Given the description of an element on the screen output the (x, y) to click on. 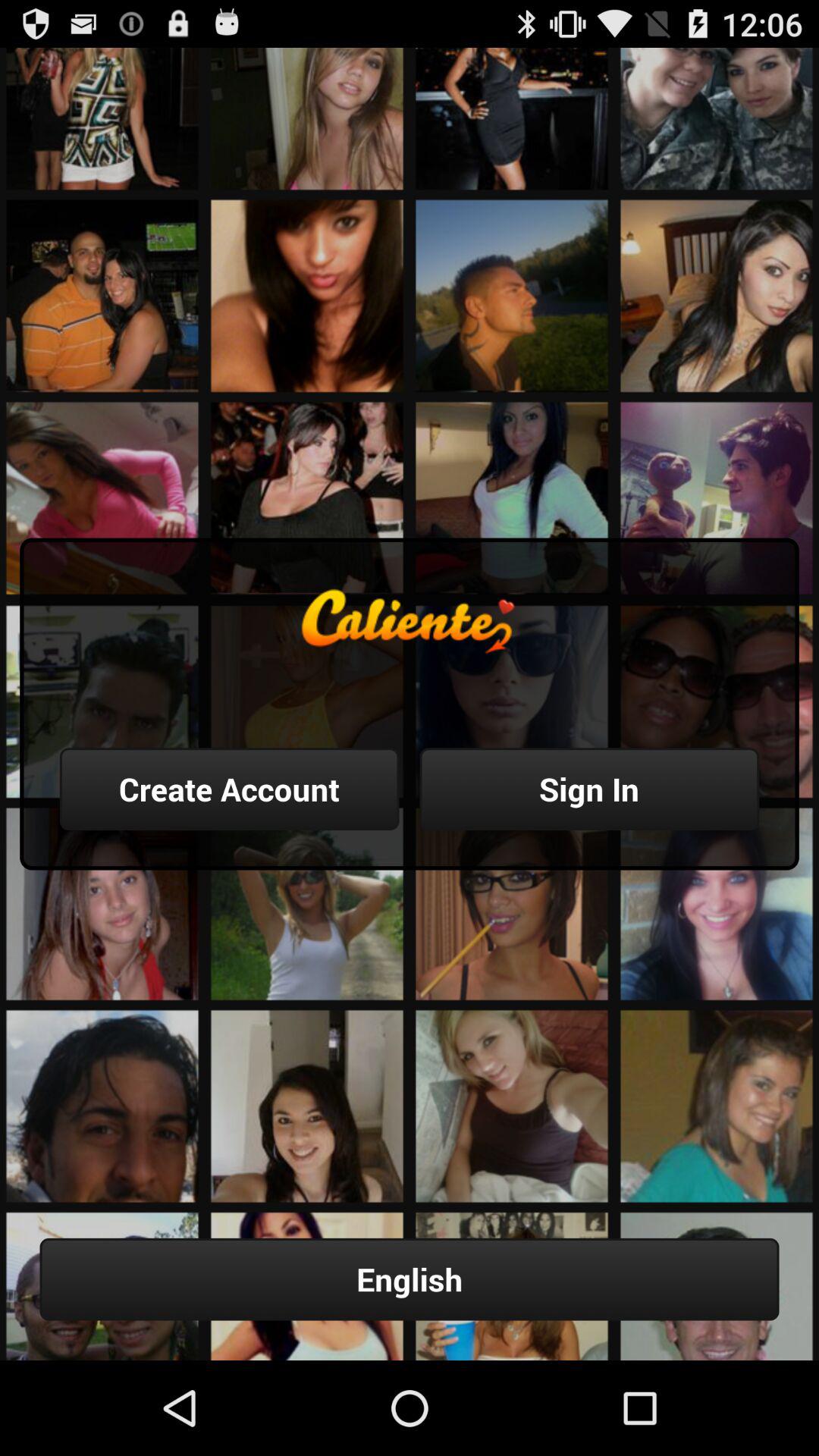
jump until create account icon (229, 788)
